Given the description of an element on the screen output the (x, y) to click on. 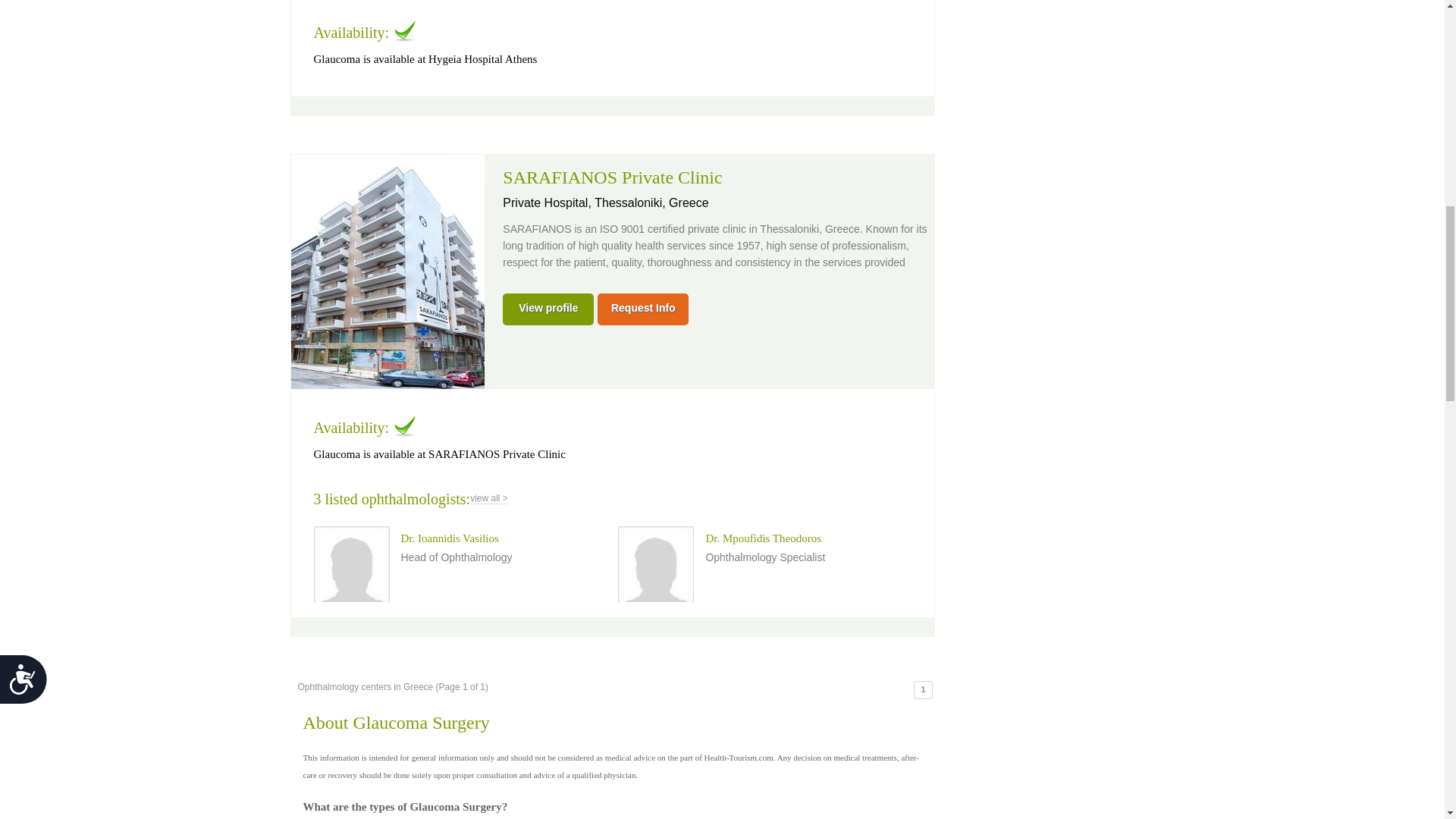
SARAFIANOS Private Clinic (612, 177)
Private Hospital,  (548, 202)
